Given the description of an element on the screen output the (x, y) to click on. 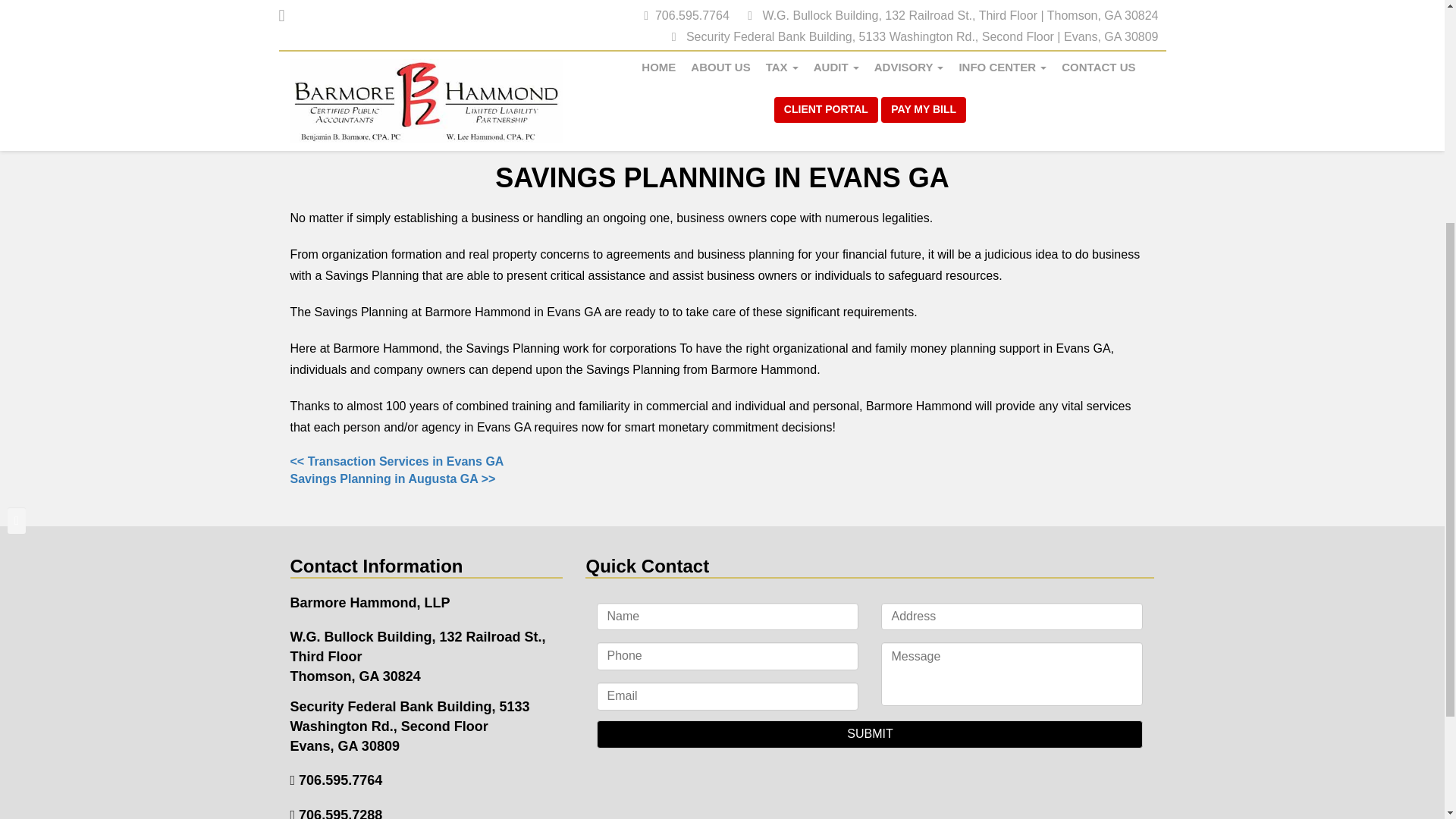
Submit (869, 734)
